Given the description of an element on the screen output the (x, y) to click on. 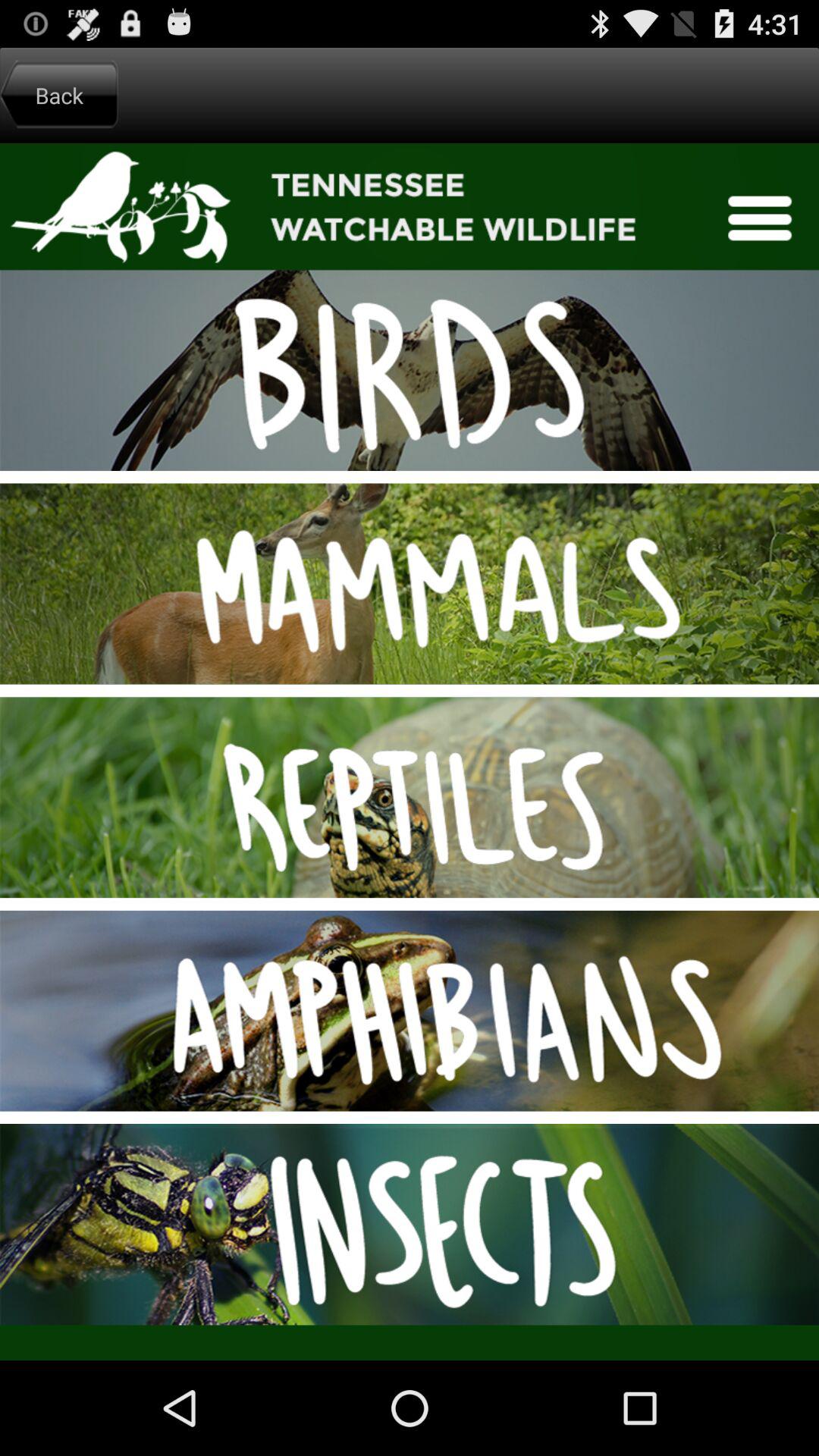
click to select (409, 751)
